Given the description of an element on the screen output the (x, y) to click on. 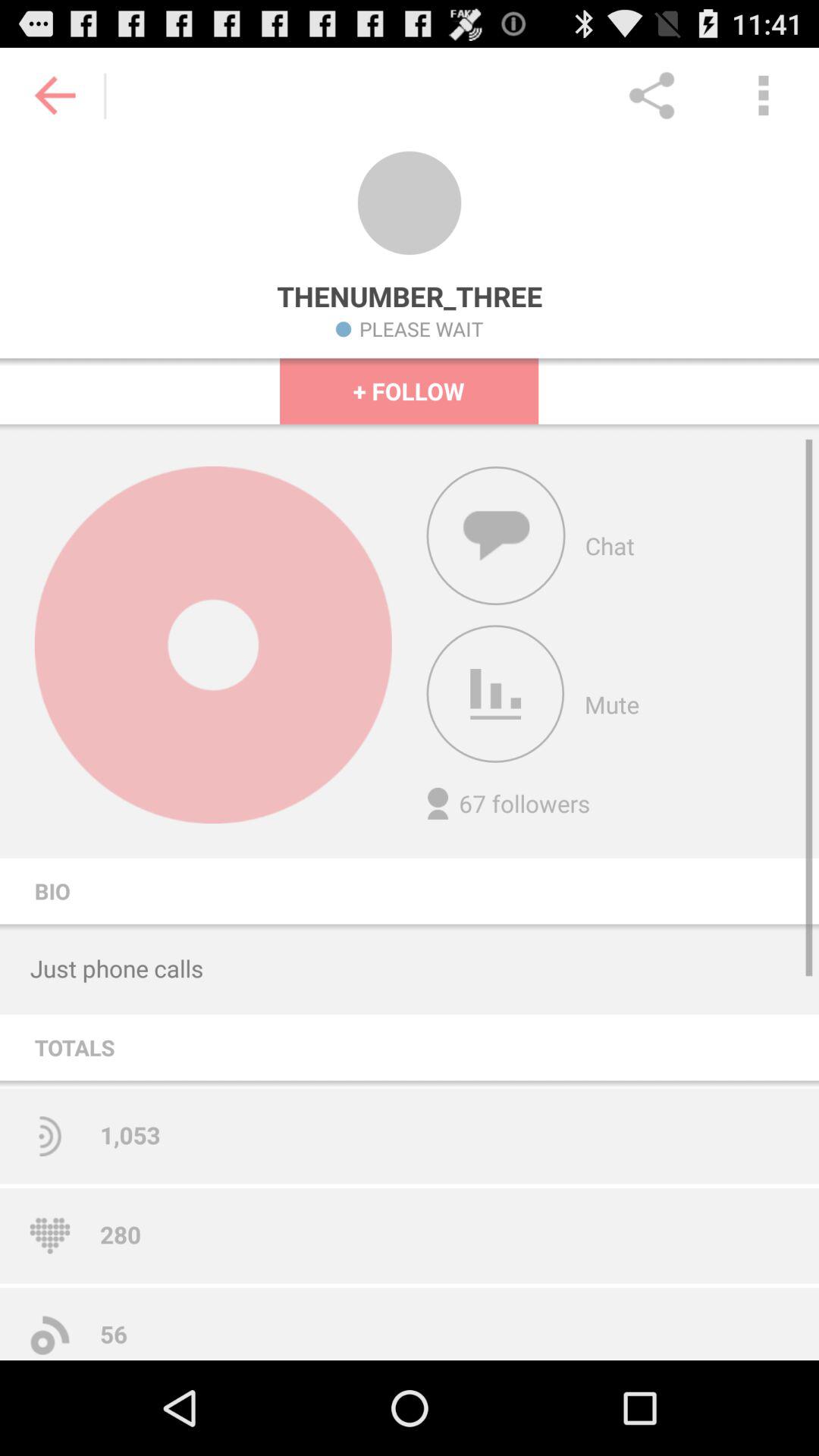
apps of the mute option (495, 694)
